Given the description of an element on the screen output the (x, y) to click on. 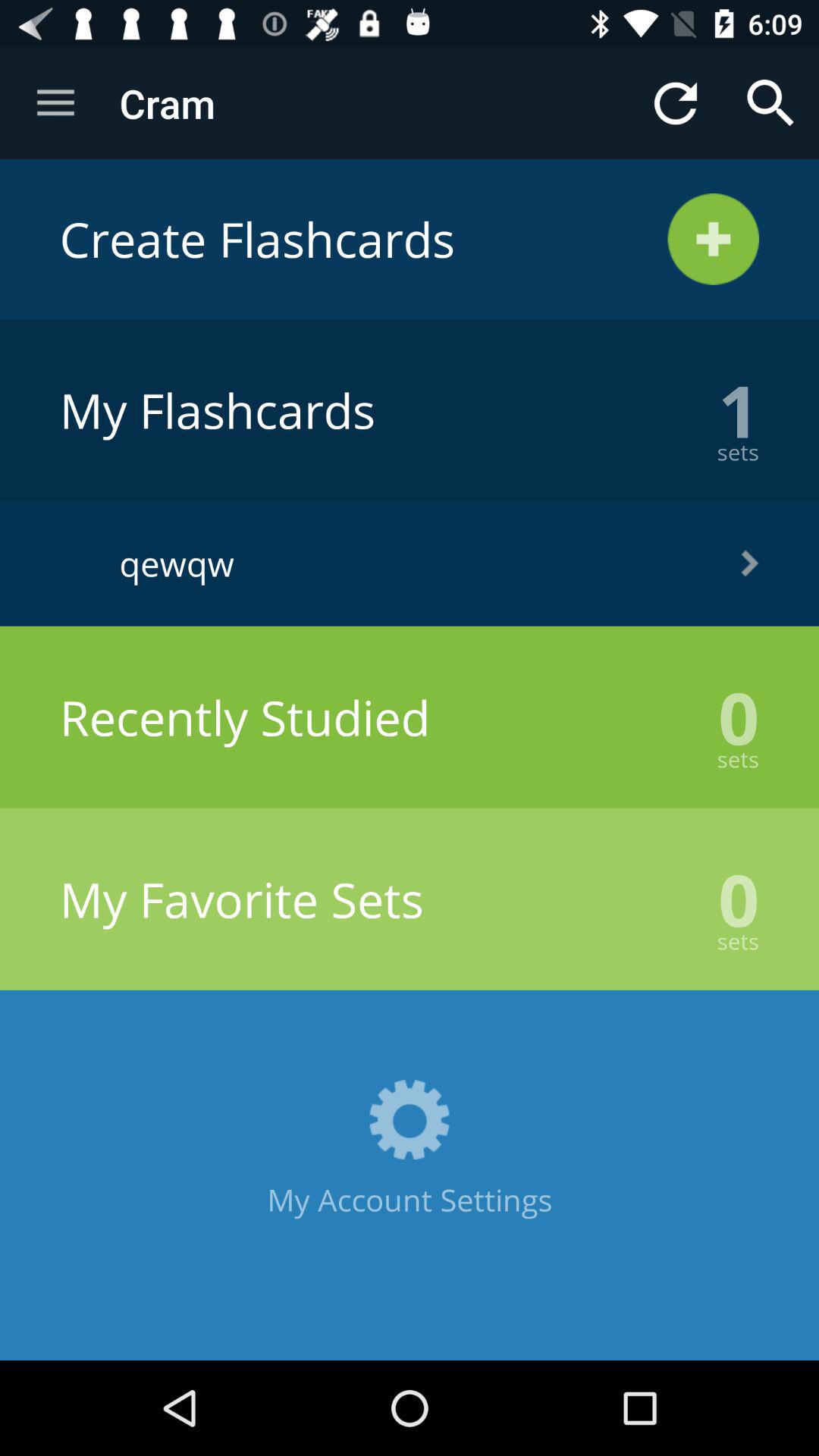
choose the item above the create flashcards (675, 103)
